Given the description of an element on the screen output the (x, y) to click on. 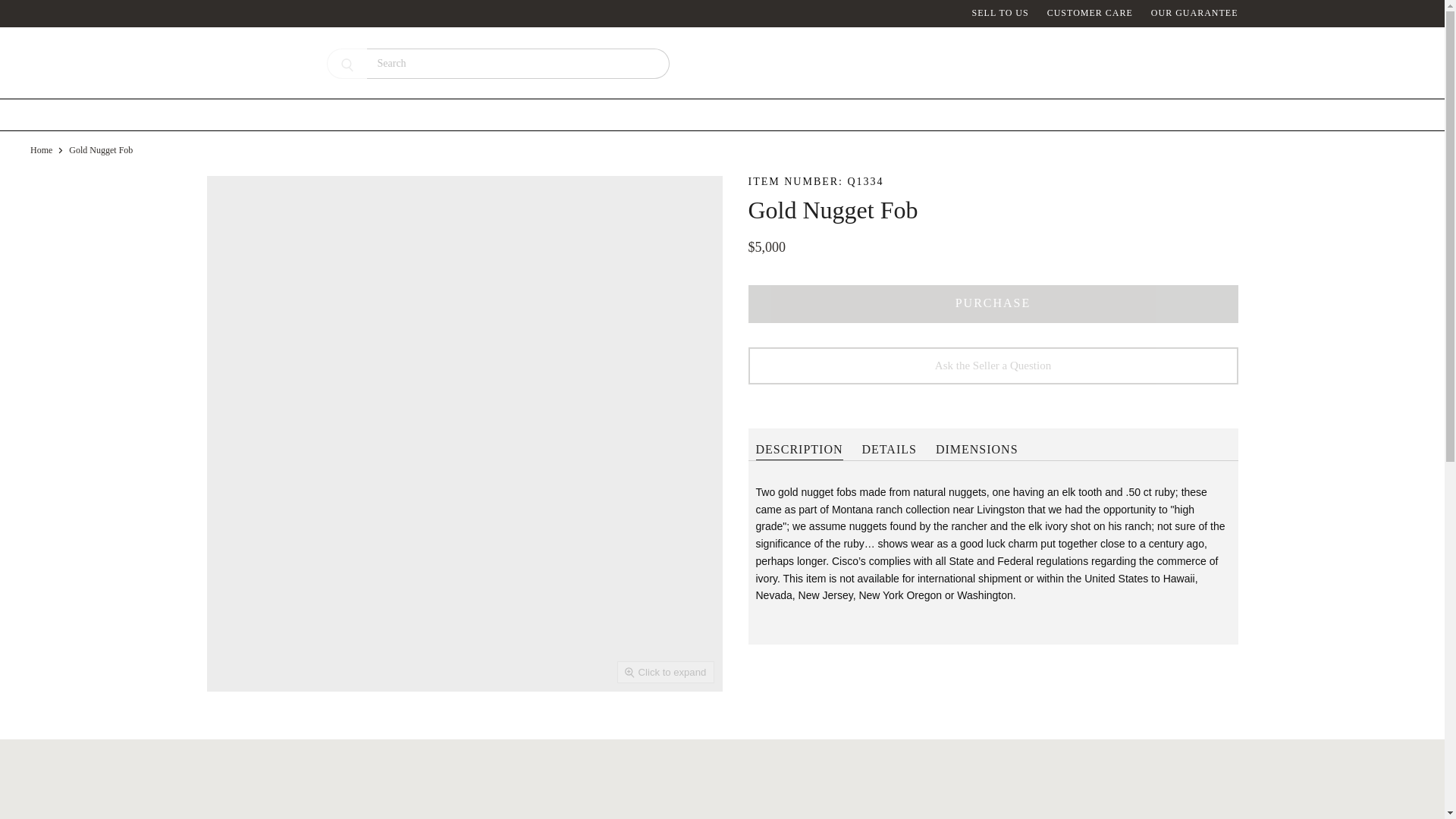
OUR GUARANTEE (1195, 13)
CUSTOMER CARE (1089, 13)
SELL TO US (1000, 13)
